Given the description of an element on the screen output the (x, y) to click on. 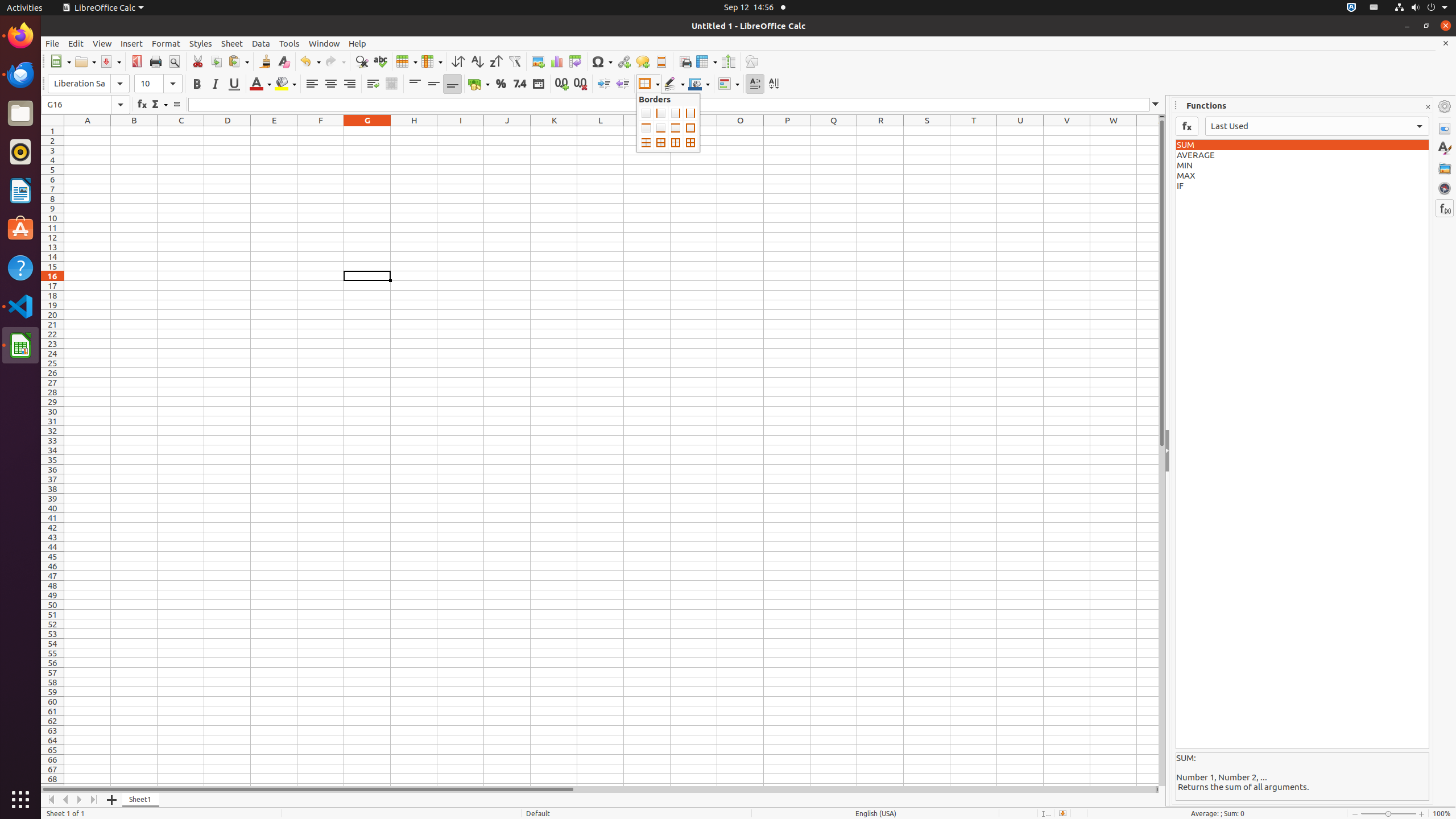
Chart Element type: push-button (556, 61)
Ubuntu Software Element type: push-button (20, 229)
Font Name Element type: combo-box (88, 83)
File Element type: menu (51, 43)
:1.21/StatusNotifierItem Element type: menu (1373, 7)
